Given the description of an element on the screen output the (x, y) to click on. 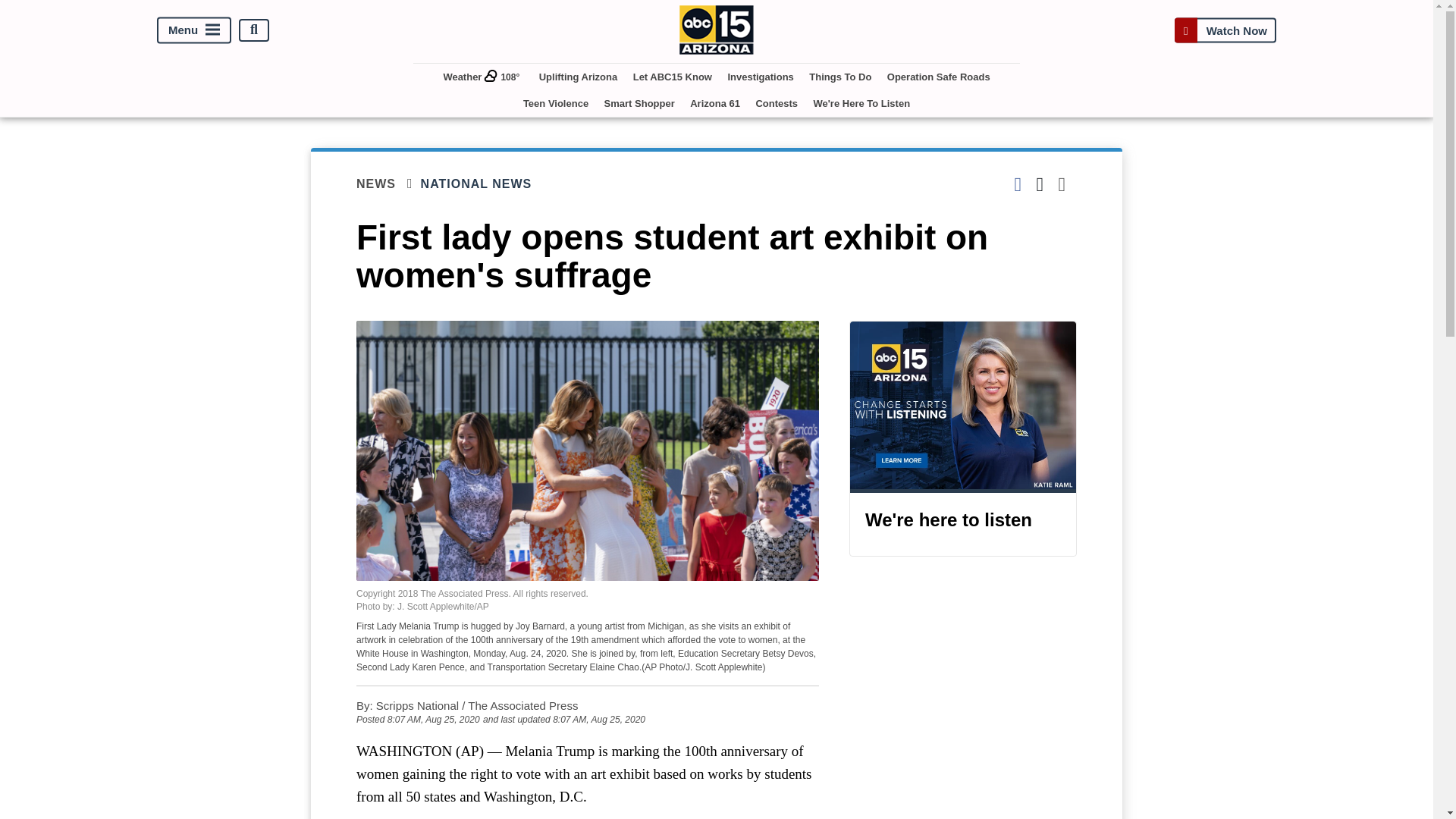
Watch Now (1224, 29)
Menu (194, 29)
